Given the description of an element on the screen output the (x, y) to click on. 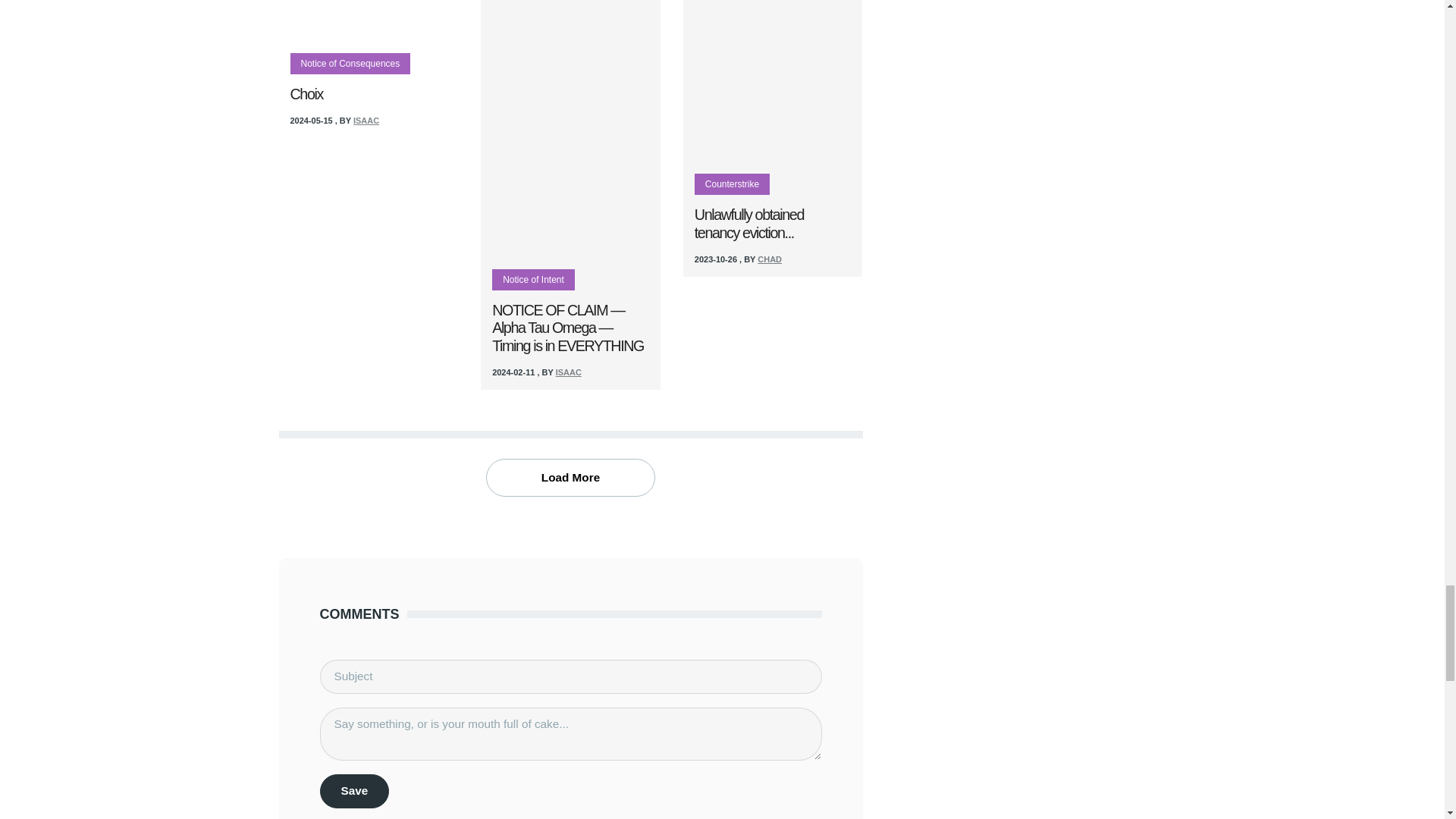
View user profile. (365, 120)
Save (355, 790)
View user profile. (568, 371)
